Given the description of an element on the screen output the (x, y) to click on. 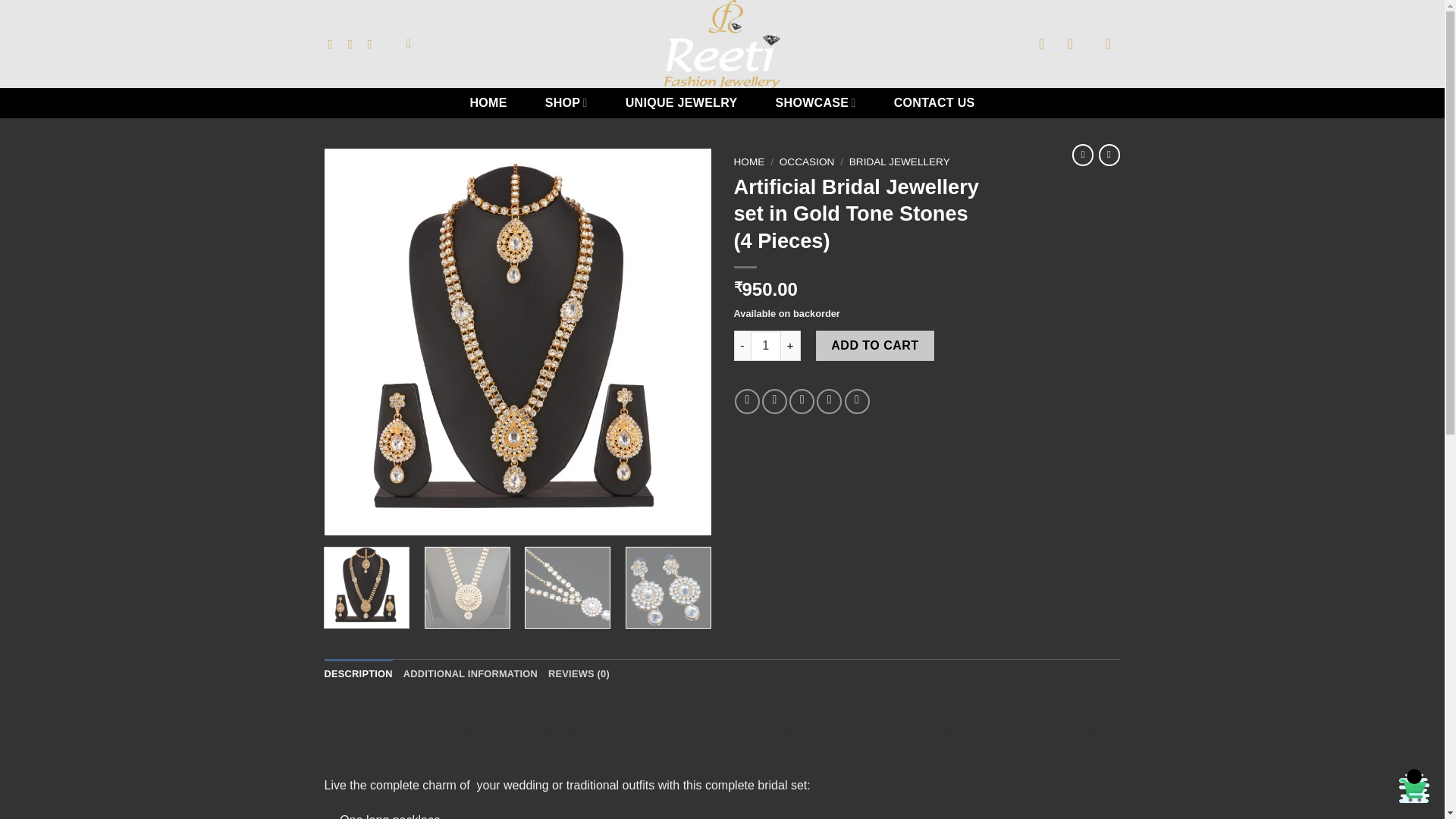
SHOP (565, 102)
1 (765, 345)
UNIQUE JEWELRY (680, 102)
SHOWCASE (815, 102)
HOME (487, 102)
Qty (765, 345)
